Given the description of an element on the screen output the (x, y) to click on. 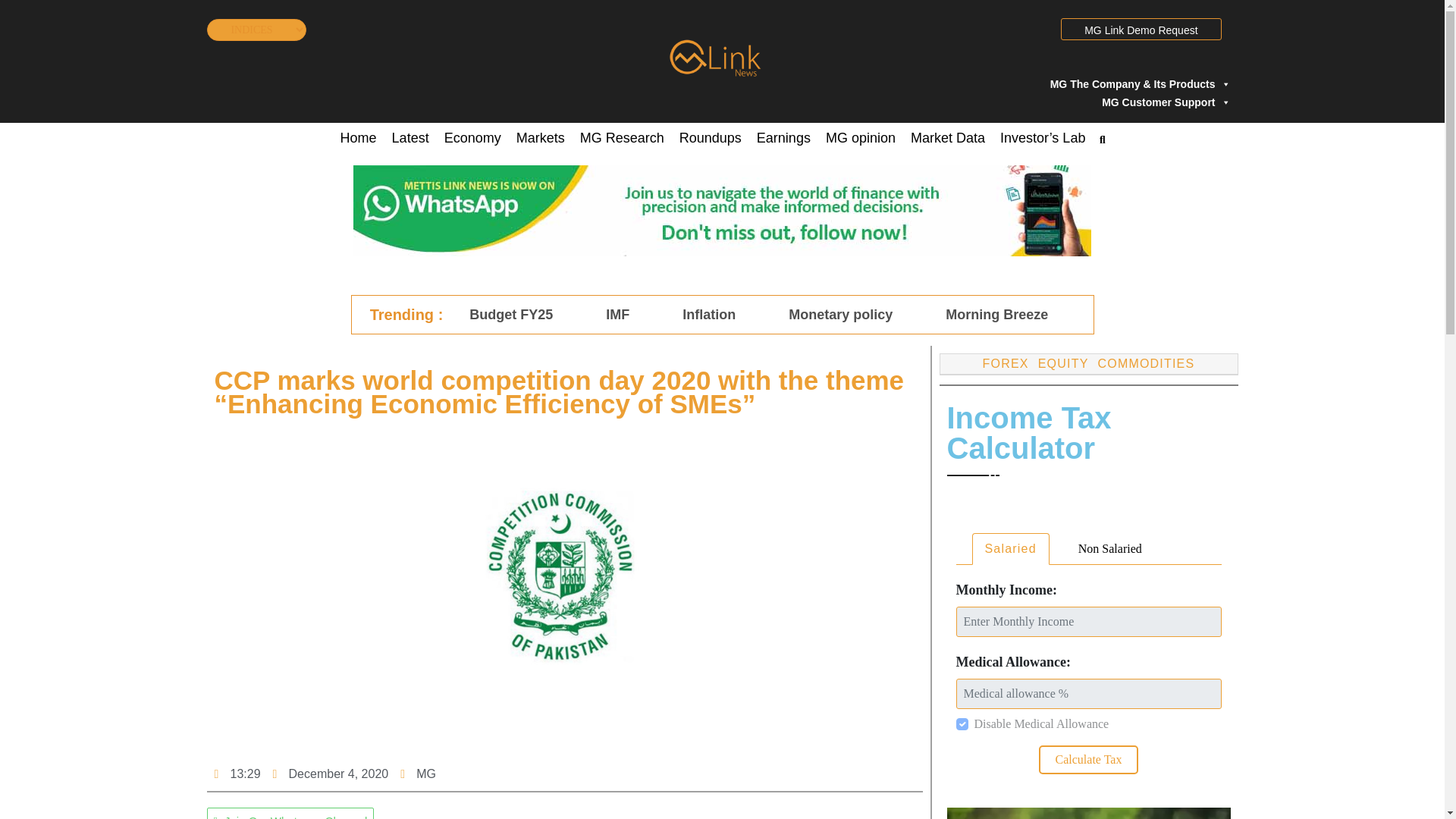
on (961, 724)
